Given the description of an element on the screen output the (x, y) to click on. 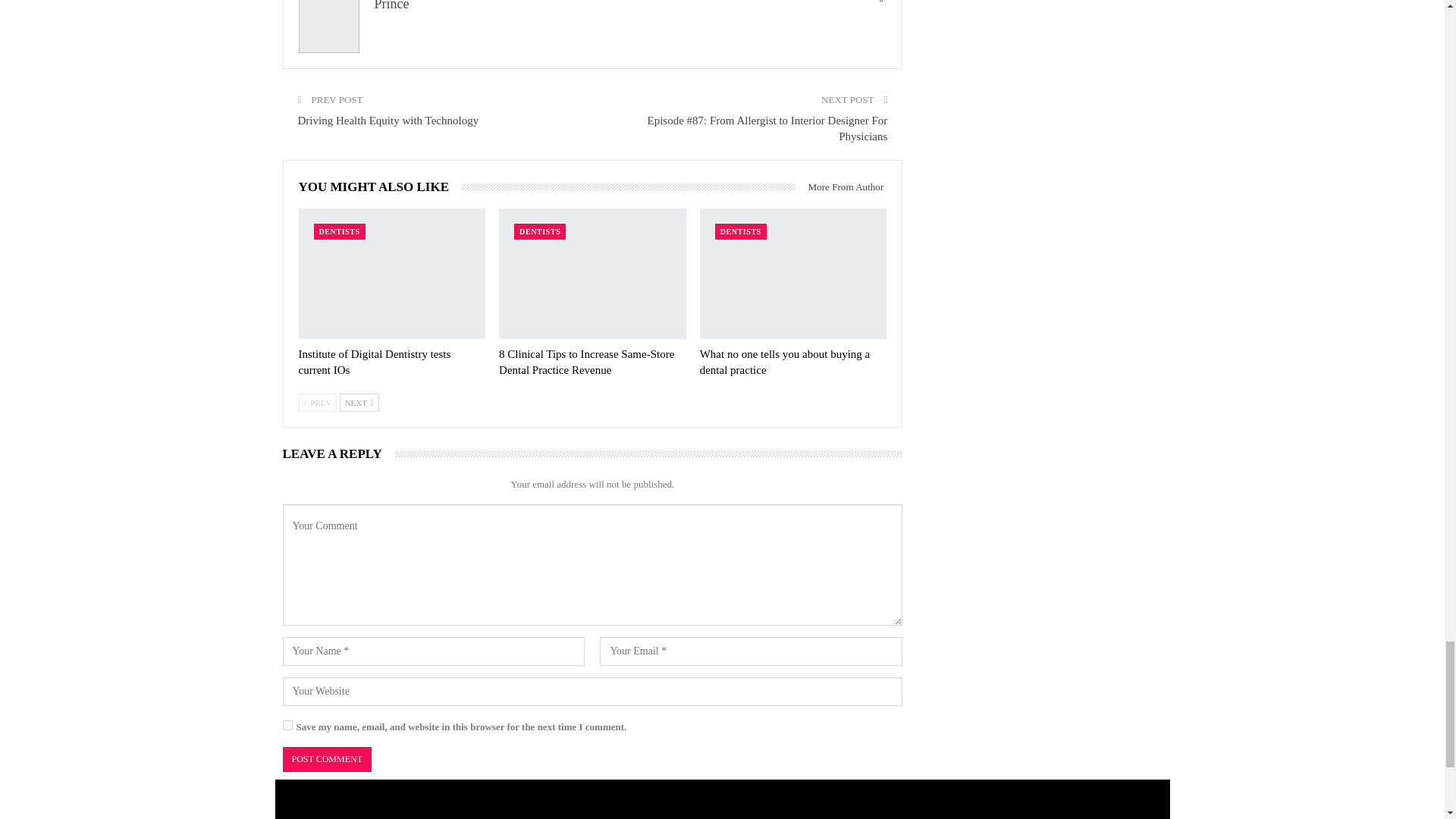
Driving Health Equity with Technology (388, 120)
What no one tells you about buying a dental practice (793, 273)
Post Comment (326, 759)
yes (287, 725)
Prince (391, 5)
Institute of Digital Dentistry tests current IOs (374, 361)
Institute of Digital Dentistry tests current IOs (392, 273)
What no one tells you about buying a dental practice (785, 361)
